Given the description of an element on the screen output the (x, y) to click on. 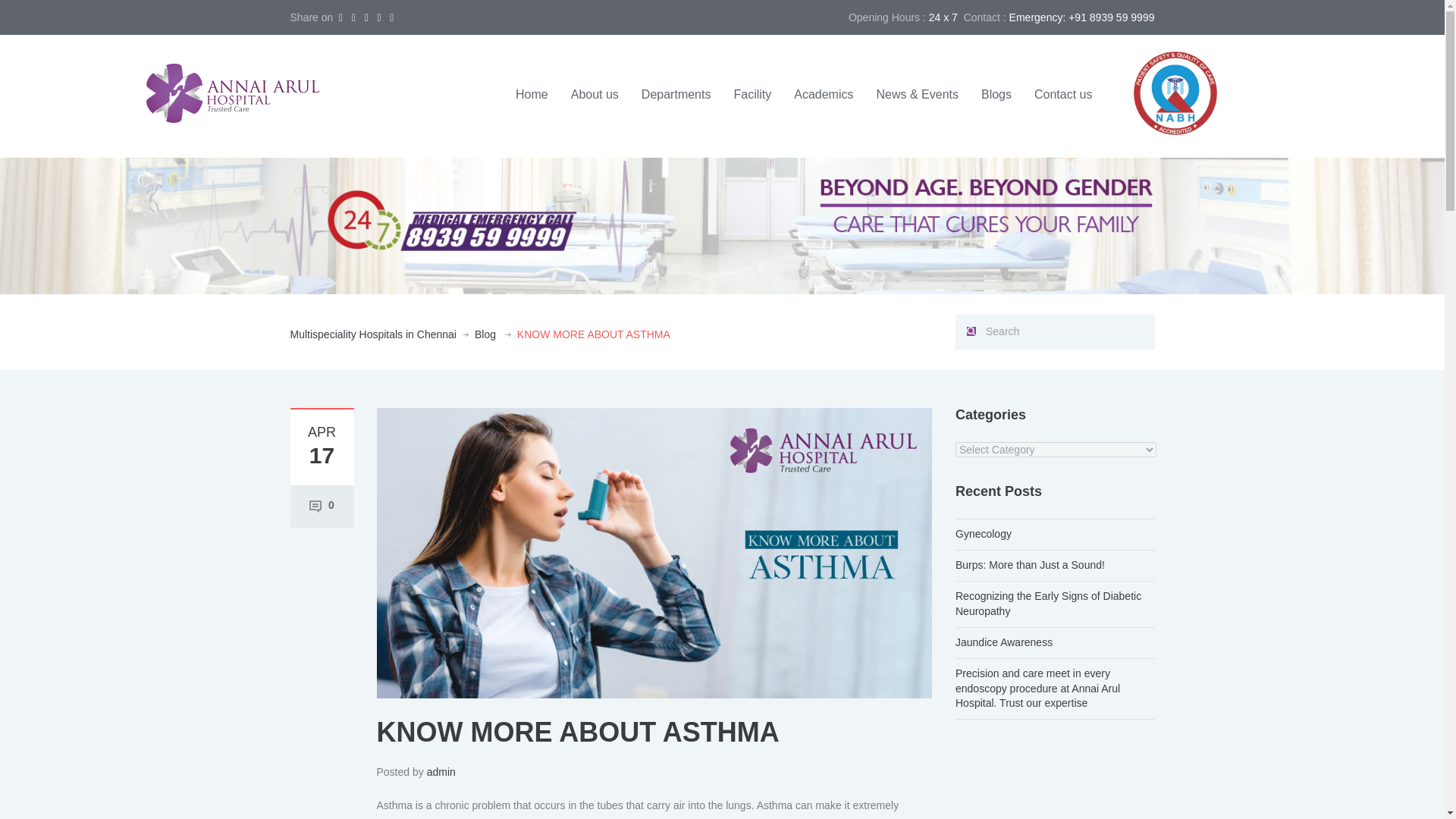
View all posts by admin (440, 771)
Academics (823, 94)
Multispeciality Hospitals in Chennai (372, 335)
admin (440, 771)
KNOW MORE ABOUT ASTHMA (653, 551)
Blog (485, 335)
Home (531, 94)
Recognizing the Early Signs of Diabetic Neuropathy (1048, 603)
0 (321, 505)
